Given the description of an element on the screen output the (x, y) to click on. 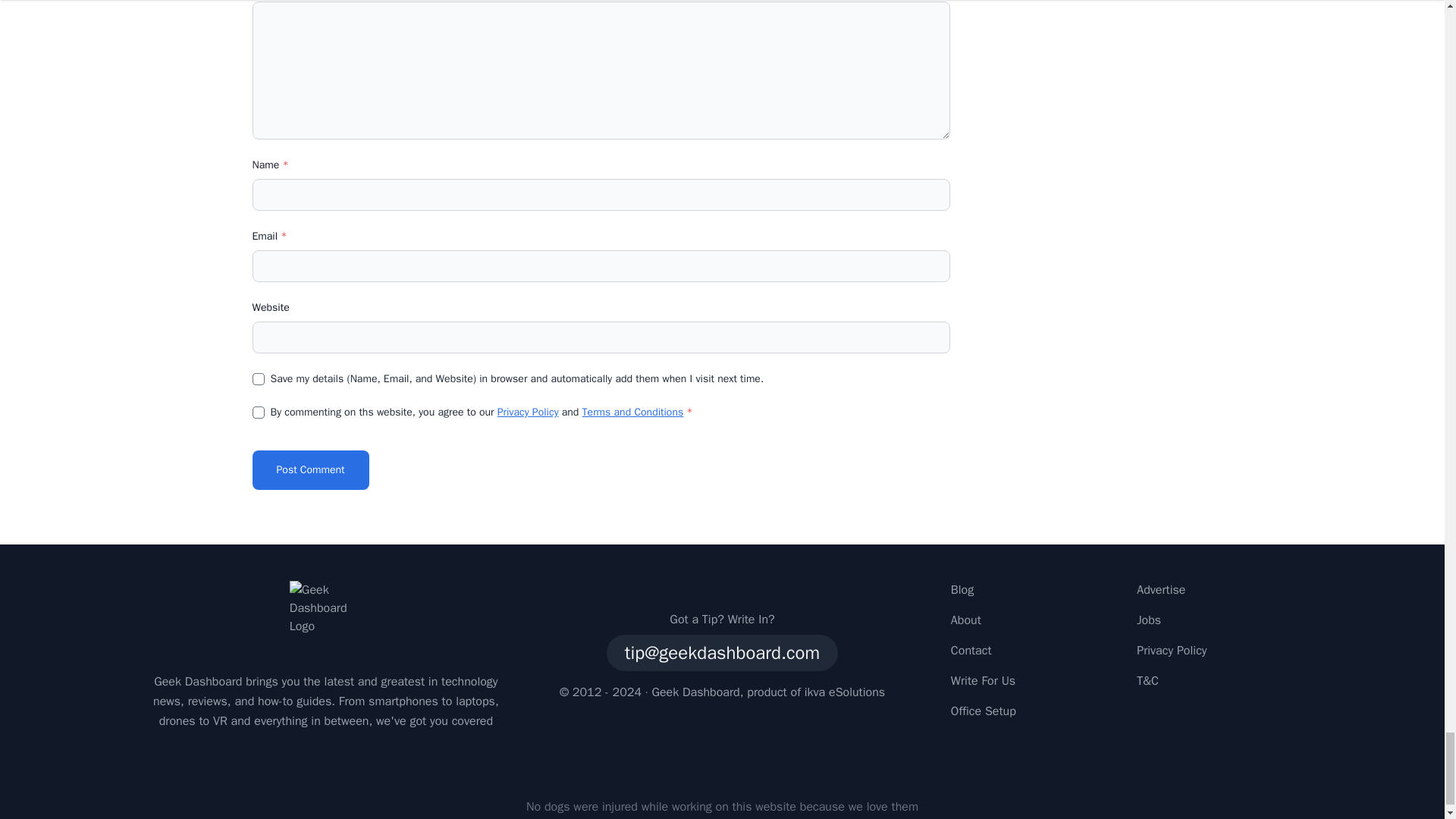
on (257, 412)
yes (257, 378)
Post Comment (309, 469)
